Given the description of an element on the screen output the (x, y) to click on. 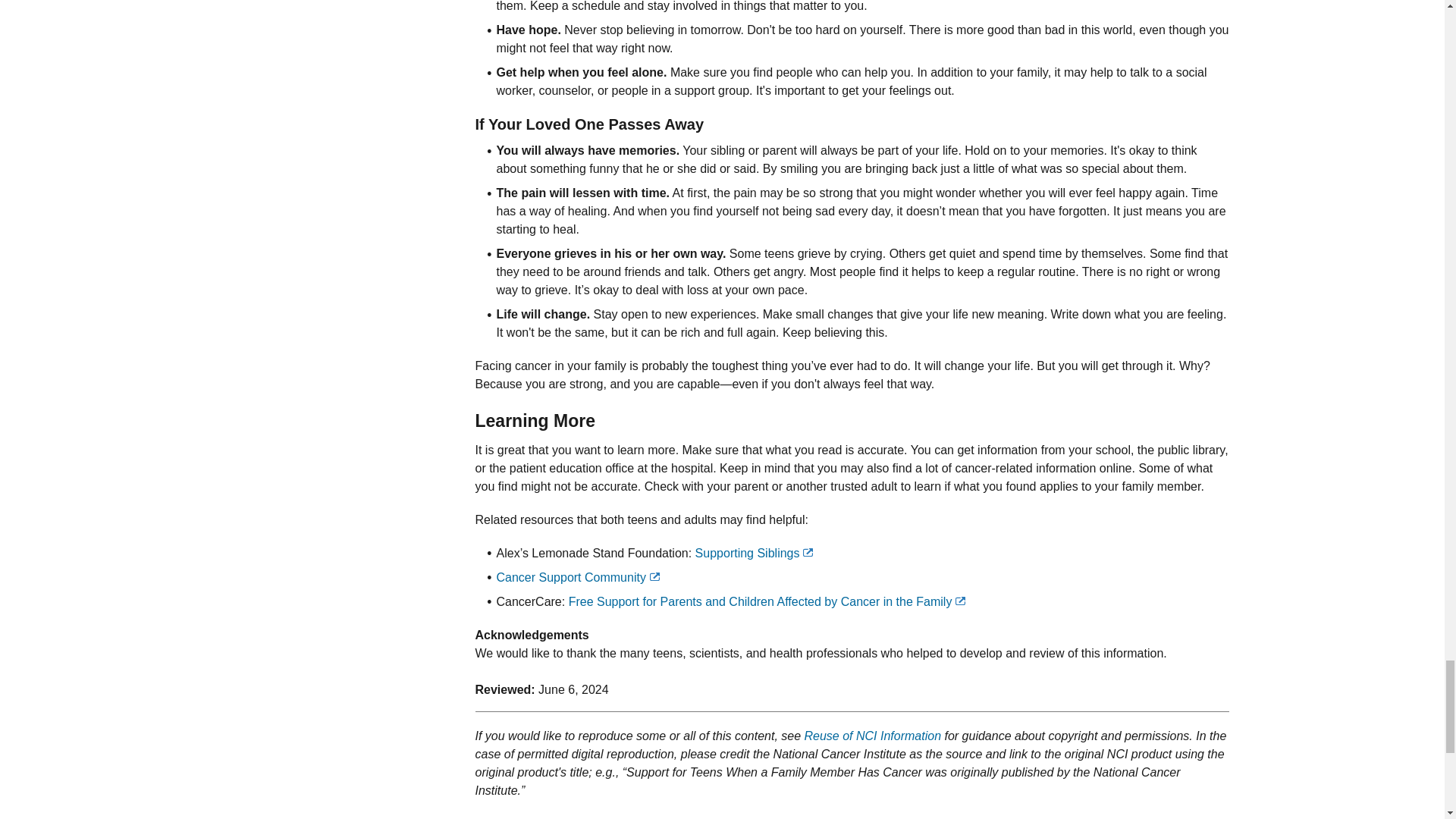
Exit Disclaimer (807, 552)
Exit Disclaimer (960, 601)
Exit Disclaimer (655, 576)
